Given the description of an element on the screen output the (x, y) to click on. 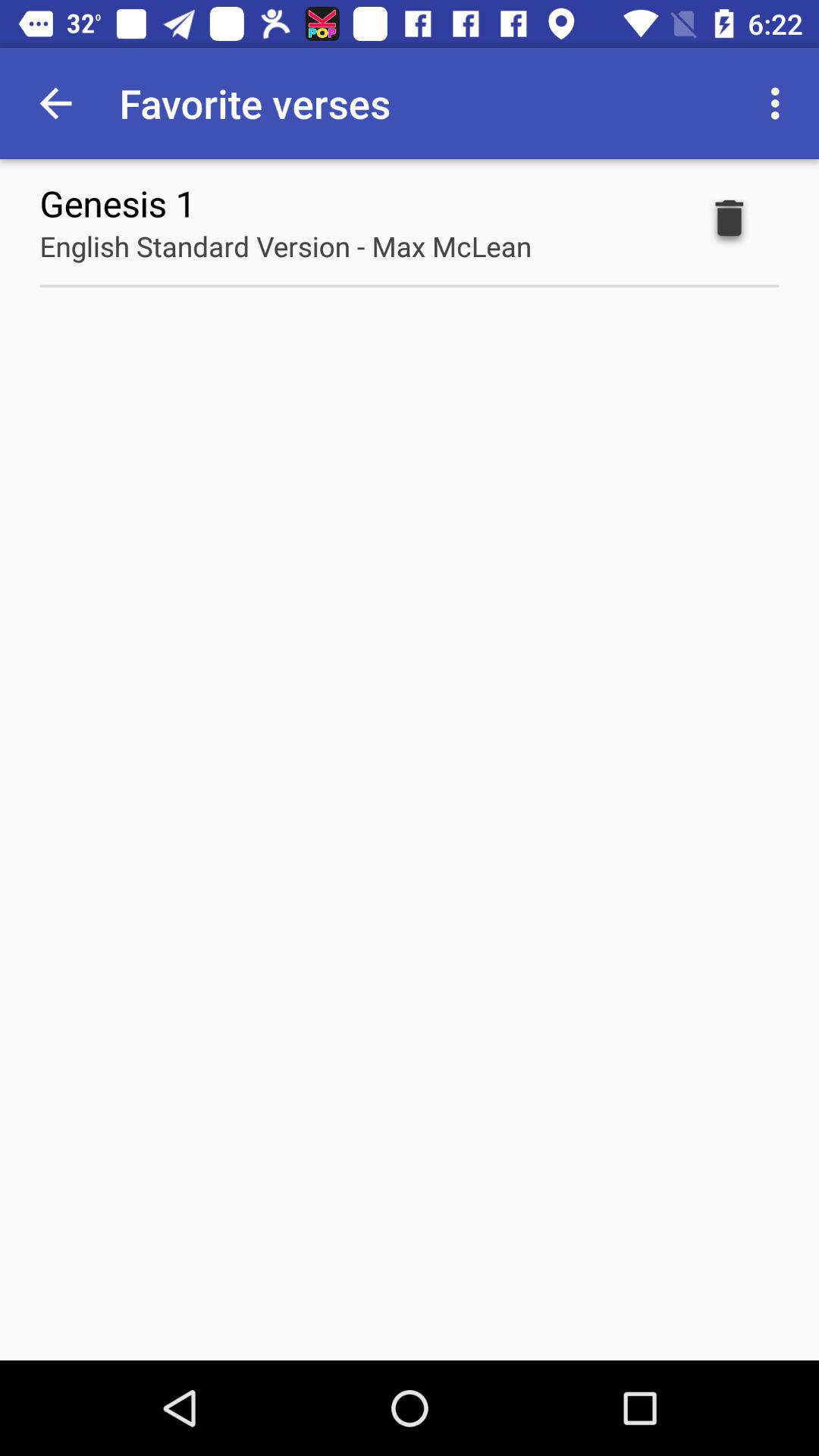
choose app next to the favorite verses item (779, 103)
